Given the description of an element on the screen output the (x, y) to click on. 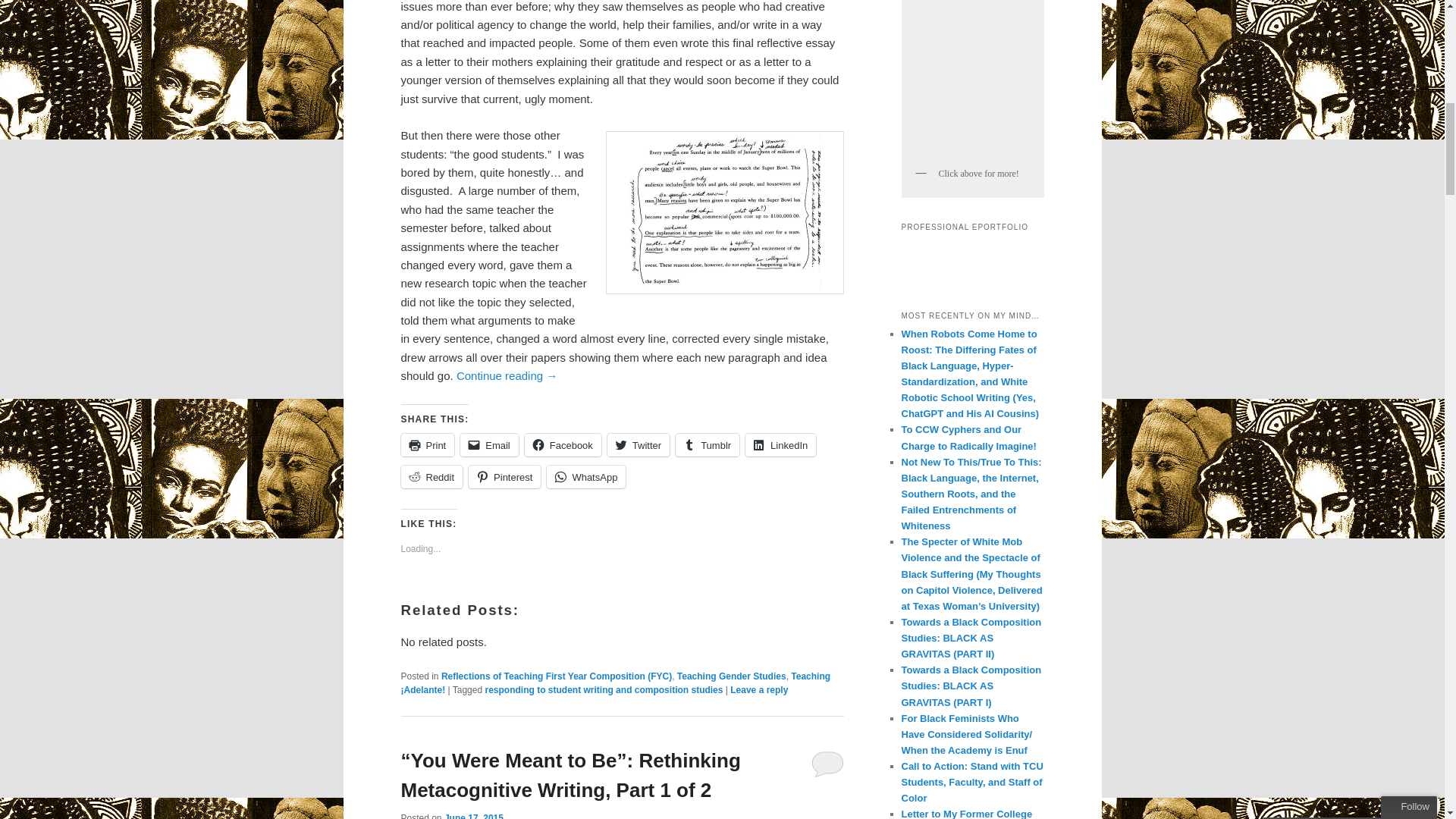
Tumblr (707, 445)
Click to share on LinkedIn (780, 445)
12:06 pm (473, 816)
Twitter (638, 445)
Click to share on Reddit (431, 477)
Click to print (427, 445)
Email (489, 445)
Click to share on Pinterest (504, 477)
Facebook (562, 445)
Print (427, 445)
Click to share on WhatsApp (586, 477)
Click to email a link to a friend (489, 445)
Sign me up! (1320, 192)
Email Address (1348, 162)
Click to share on Facebook (562, 445)
